Given the description of an element on the screen output the (x, y) to click on. 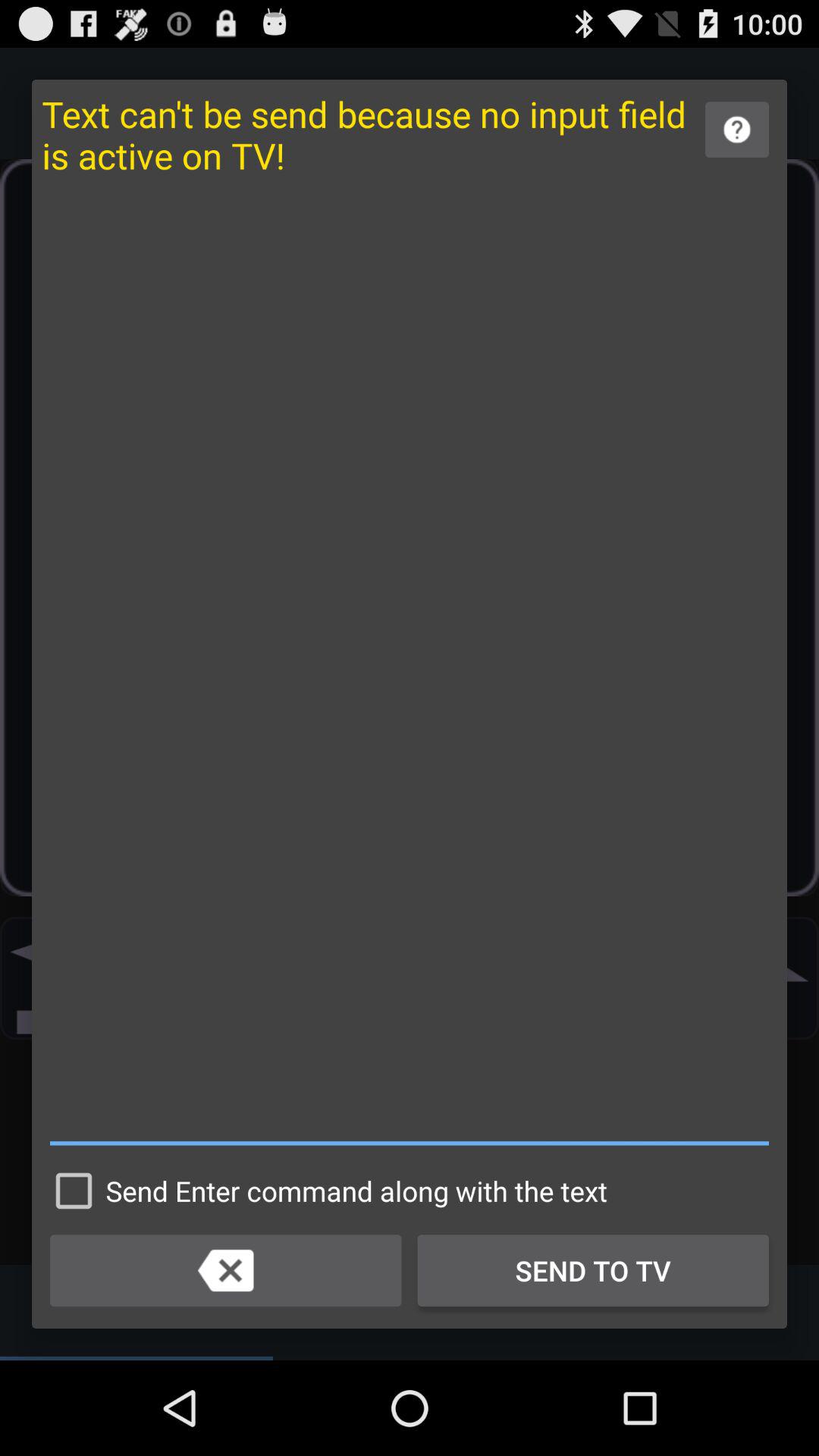
to erase/return (225, 1270)
